Given the description of an element on the screen output the (x, y) to click on. 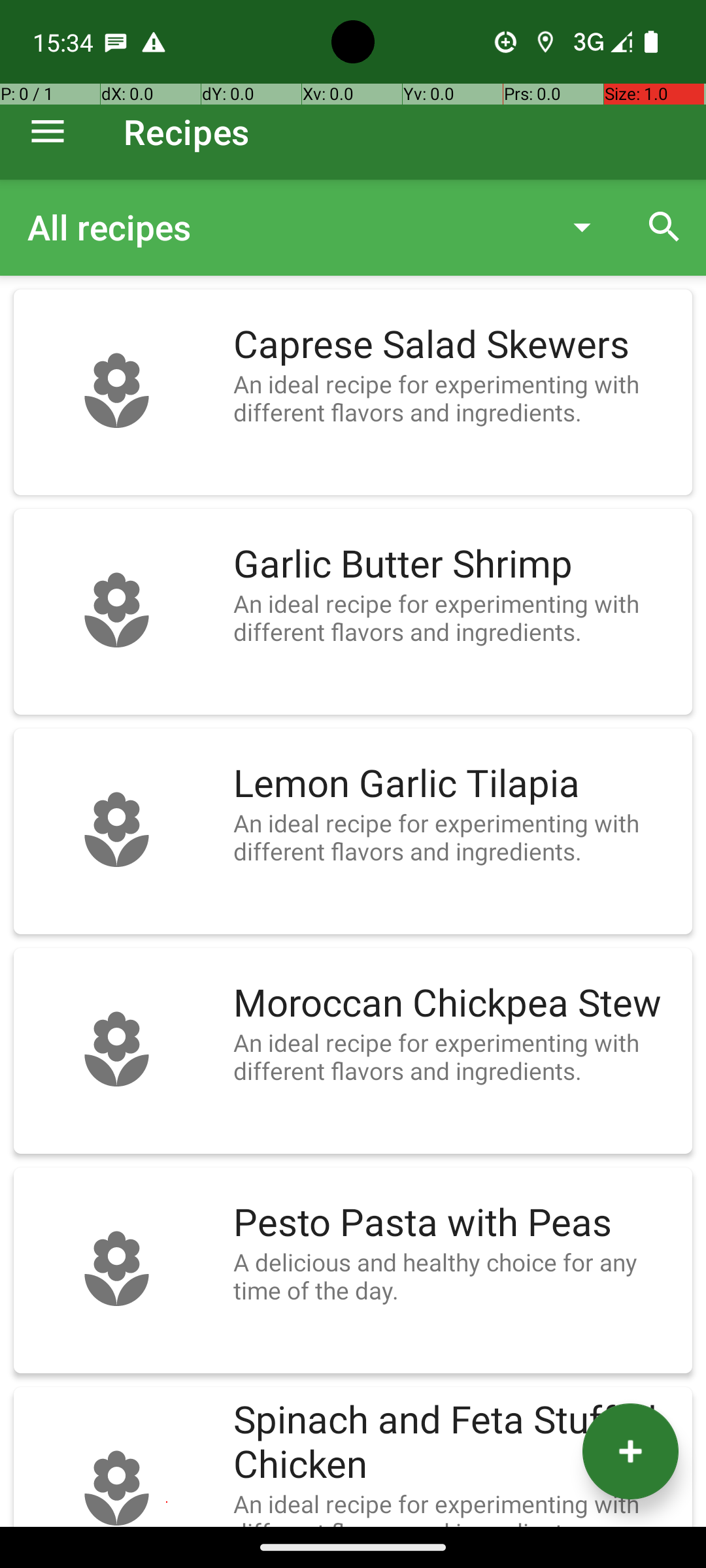
Garlic Butter Shrimp Element type: android.widget.TextView (455, 564)
Lemon Garlic Tilapia Element type: android.widget.TextView (455, 783)
Moroccan Chickpea Stew Element type: android.widget.TextView (455, 1003)
Pesto Pasta with Peas Element type: android.widget.TextView (455, 1222)
Spinach and Feta Stuffed Chicken Element type: android.widget.TextView (455, 1442)
